Given the description of an element on the screen output the (x, y) to click on. 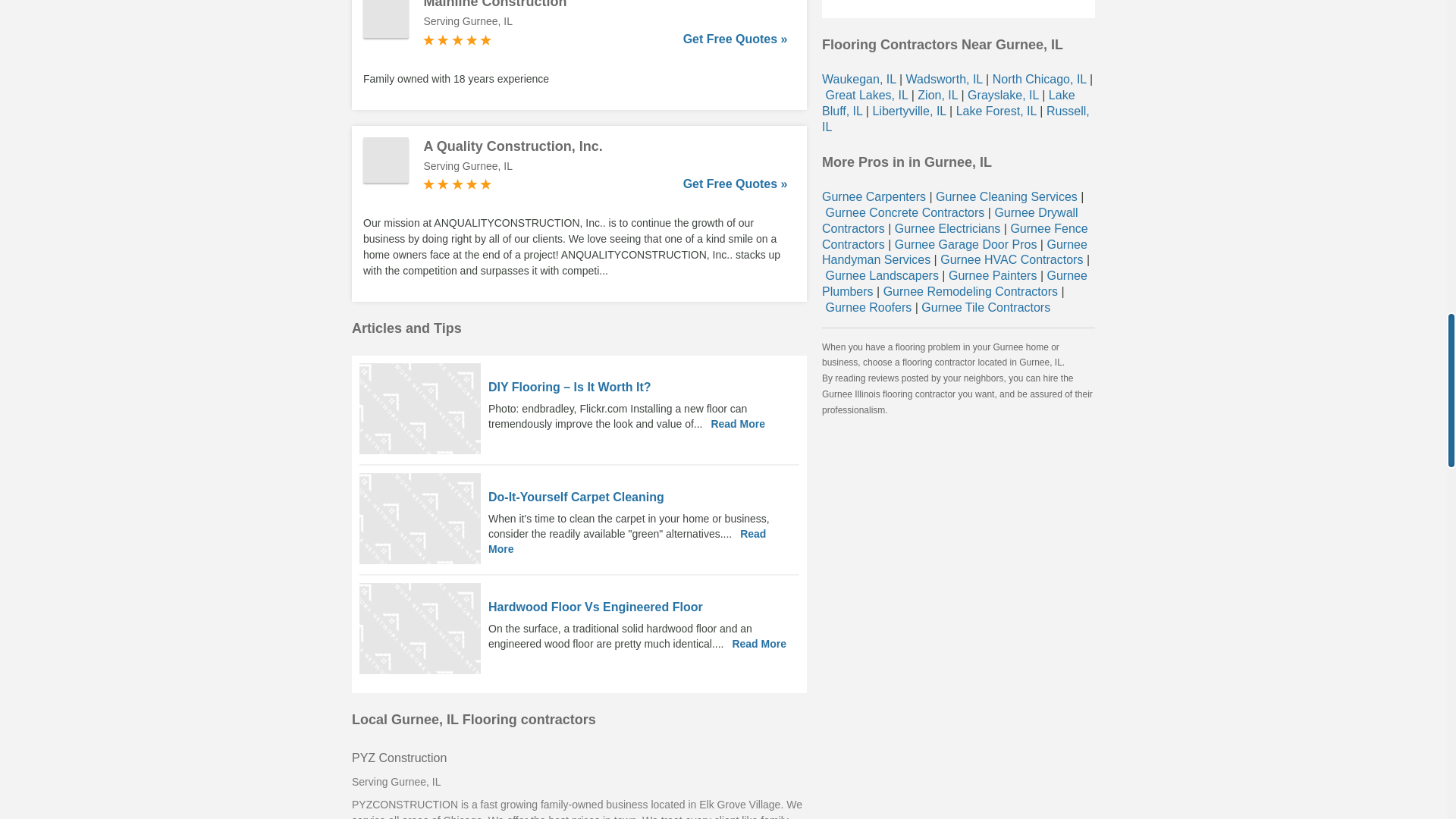
5 star rating (457, 39)
5 star rating (457, 183)
